Given the description of an element on the screen output the (x, y) to click on. 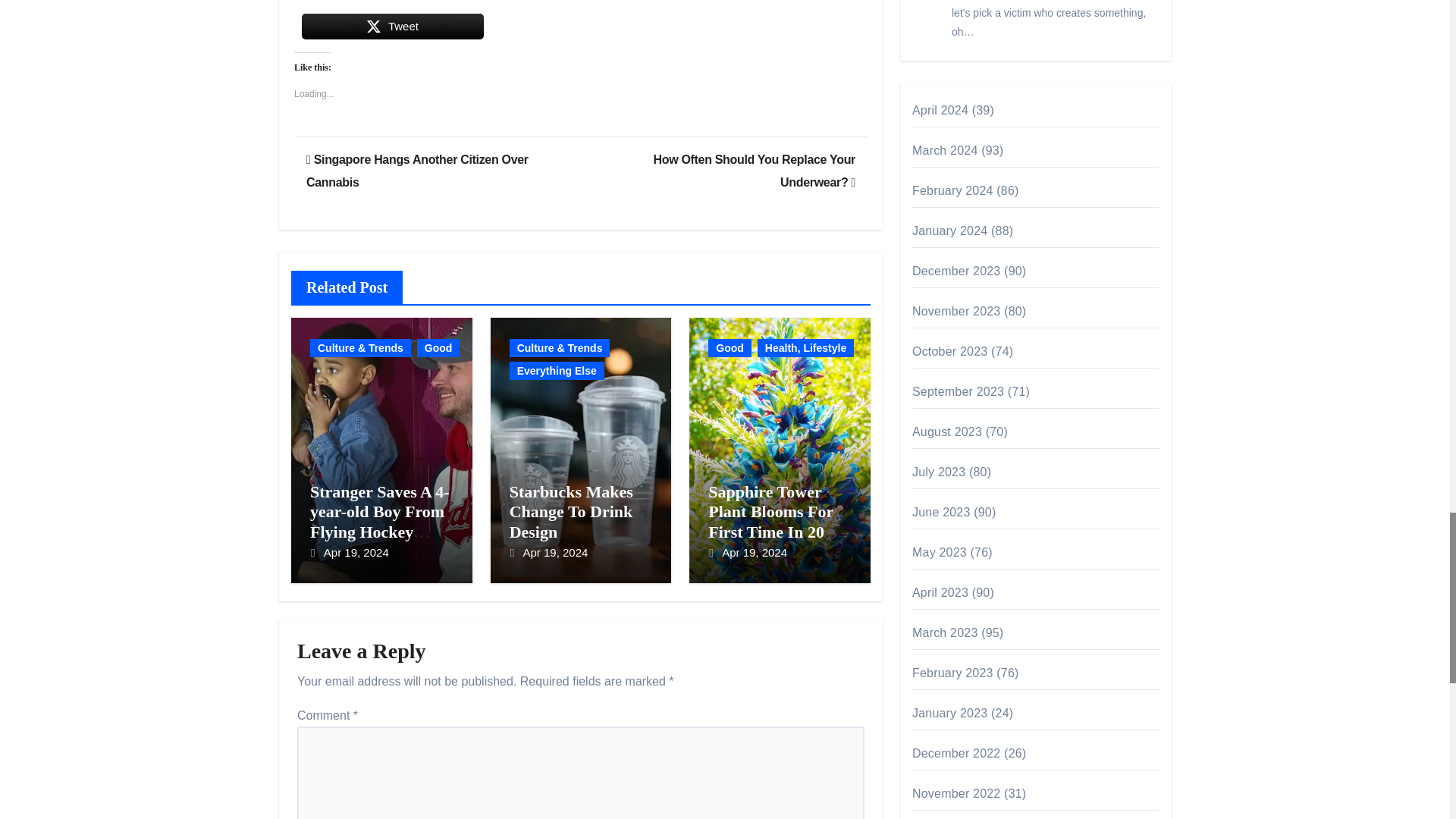
Permalink to: Starbucks Makes Change To Drink Design (571, 511)
